Given the description of an element on the screen output the (x, y) to click on. 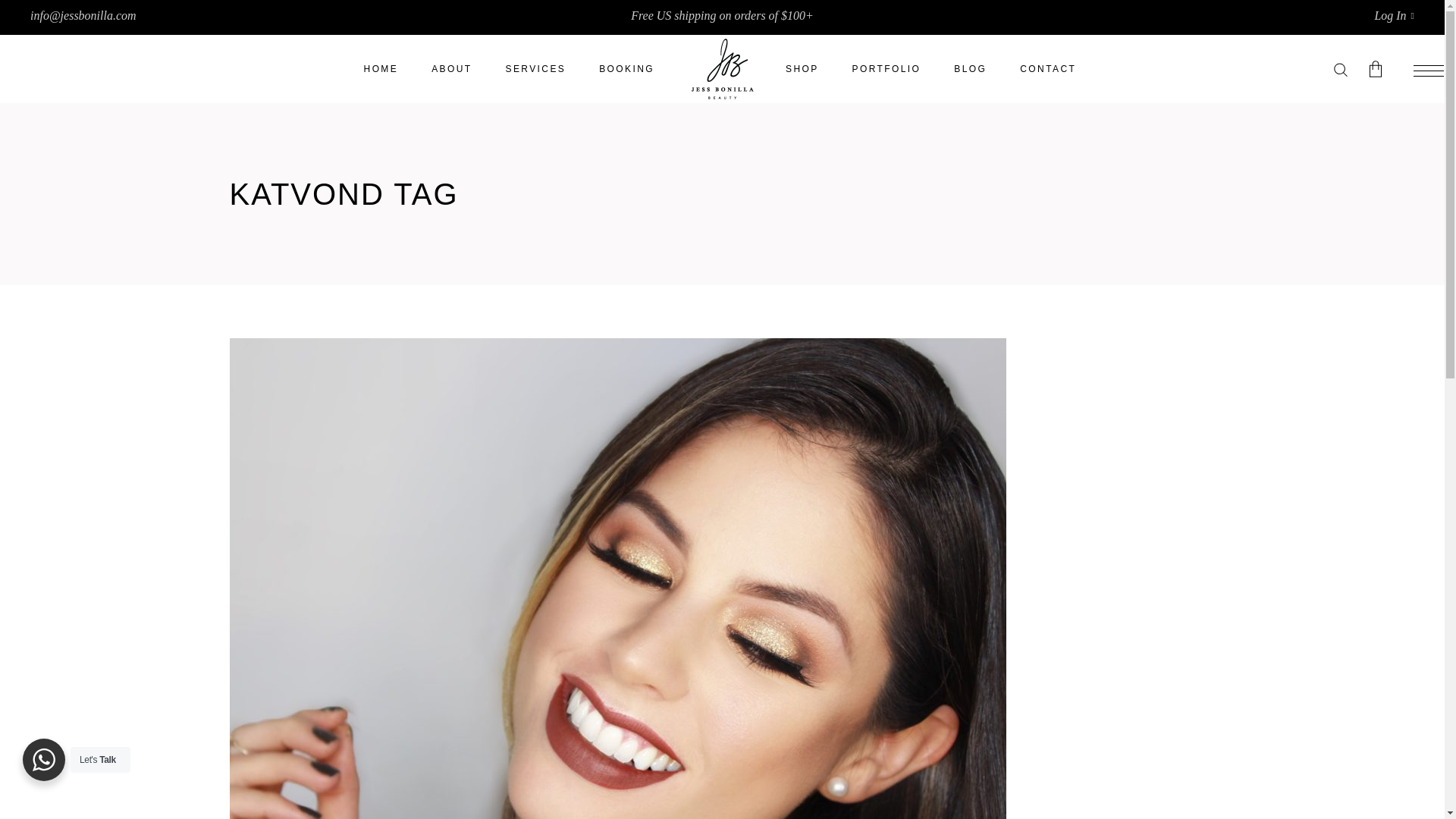
ABOUT (450, 69)
Log In (1393, 15)
SHOP (801, 69)
CONTACT (1048, 69)
SERVICES (536, 69)
BOOKING (626, 69)
HOME (380, 69)
PORTFOLIO (886, 69)
BLOG (970, 69)
